Given the description of an element on the screen output the (x, y) to click on. 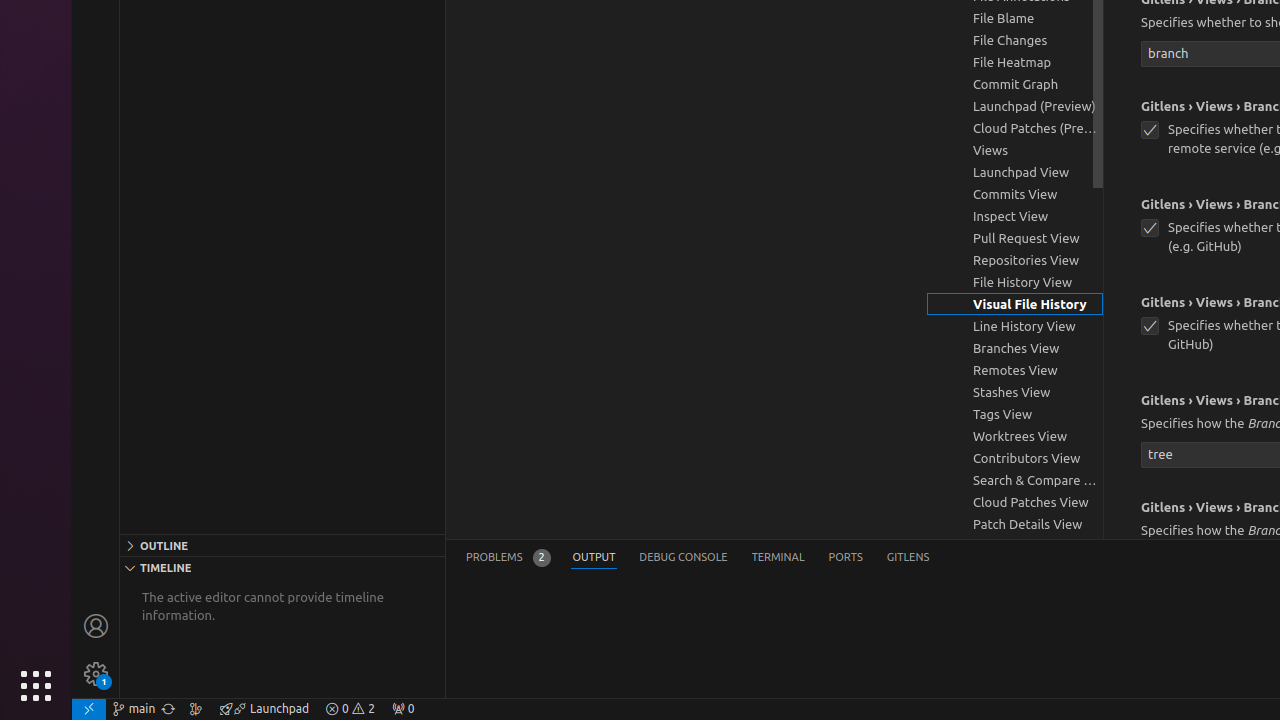
Branches View, group Element type: tree-item (1015, 348)
Outline Section Element type: push-button (282, 545)
Line History View, group Element type: tree-item (1015, 326)
Launchpad View, group Element type: tree-item (1015, 172)
Contributors View, group Element type: tree-item (1015, 458)
